Given the description of an element on the screen output the (x, y) to click on. 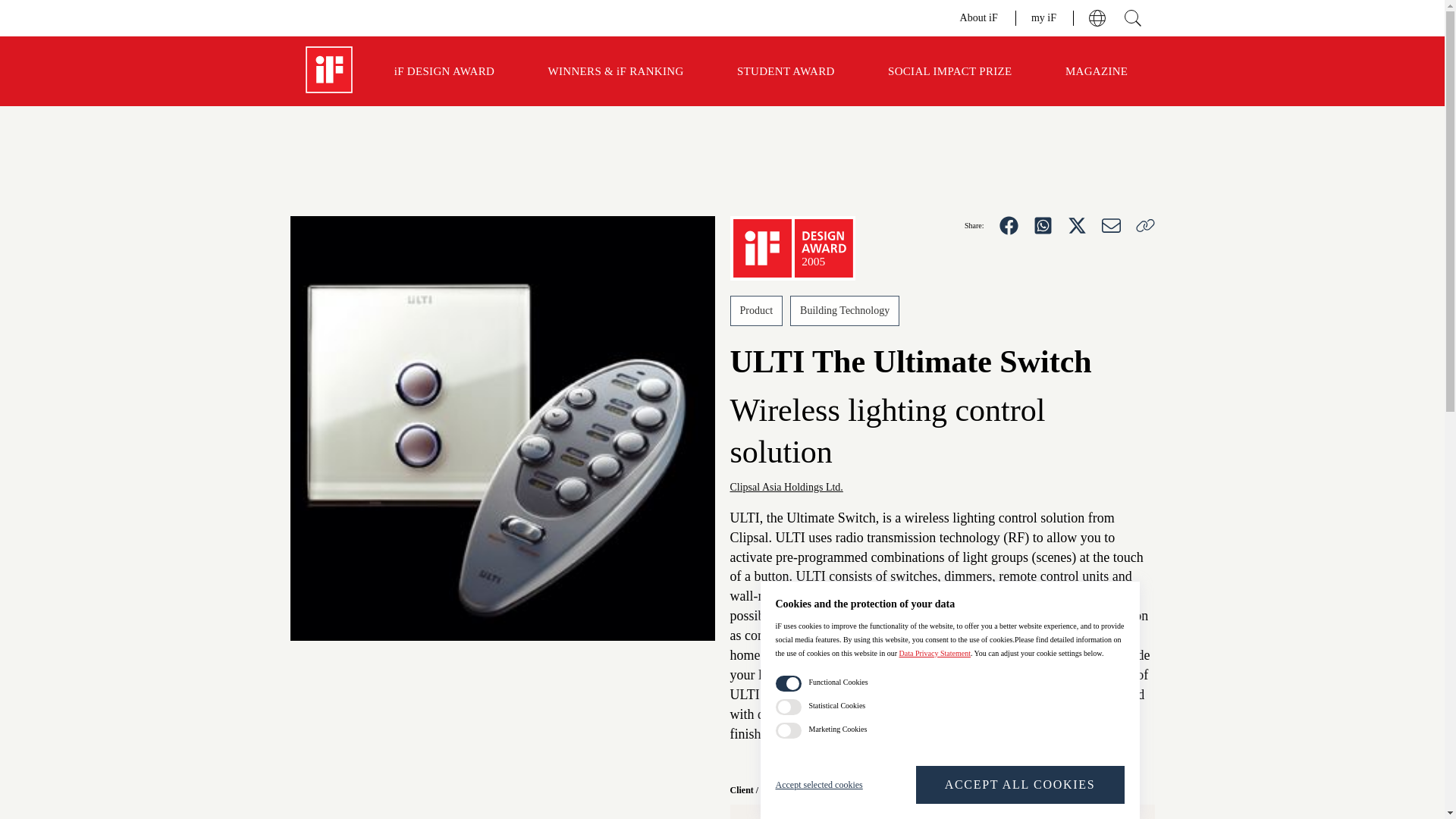
my iF (1044, 16)
About iF (979, 16)
2005 (791, 248)
Accept selected cookies (829, 784)
Data Privacy Statement (935, 653)
ACCEPT ALL COOKIES (1019, 784)
